Given the description of an element on the screen output the (x, y) to click on. 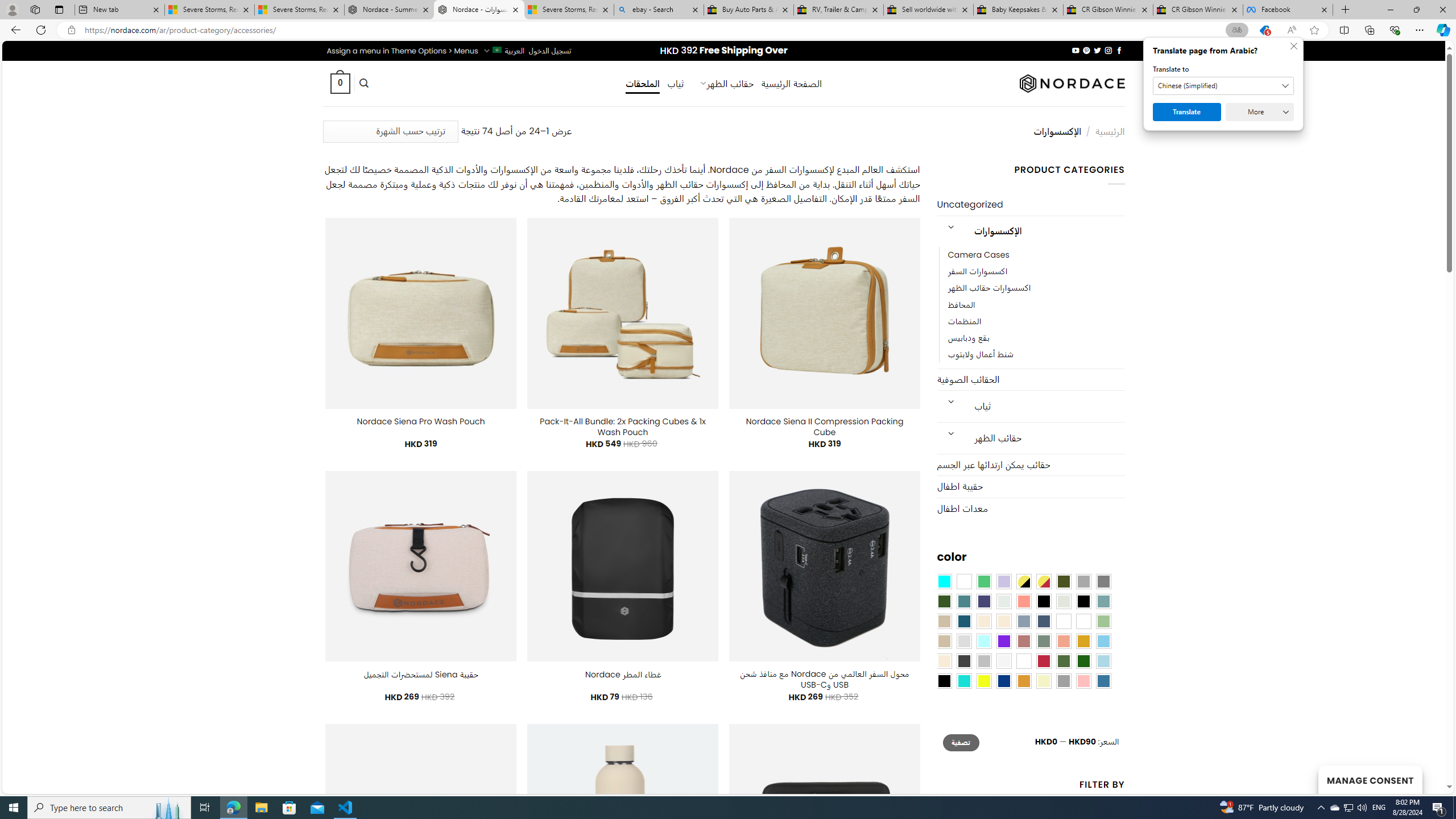
Pack-It-All Bundle: 2x Packing Cubes & 1x Wash Pouch (621, 427)
Camera Cases (1036, 254)
Sell worldwide with eBay (928, 9)
Buy Auto Parts & Accessories | eBay (747, 9)
Show translate options (1236, 29)
